Given the description of an element on the screen output the (x, y) to click on. 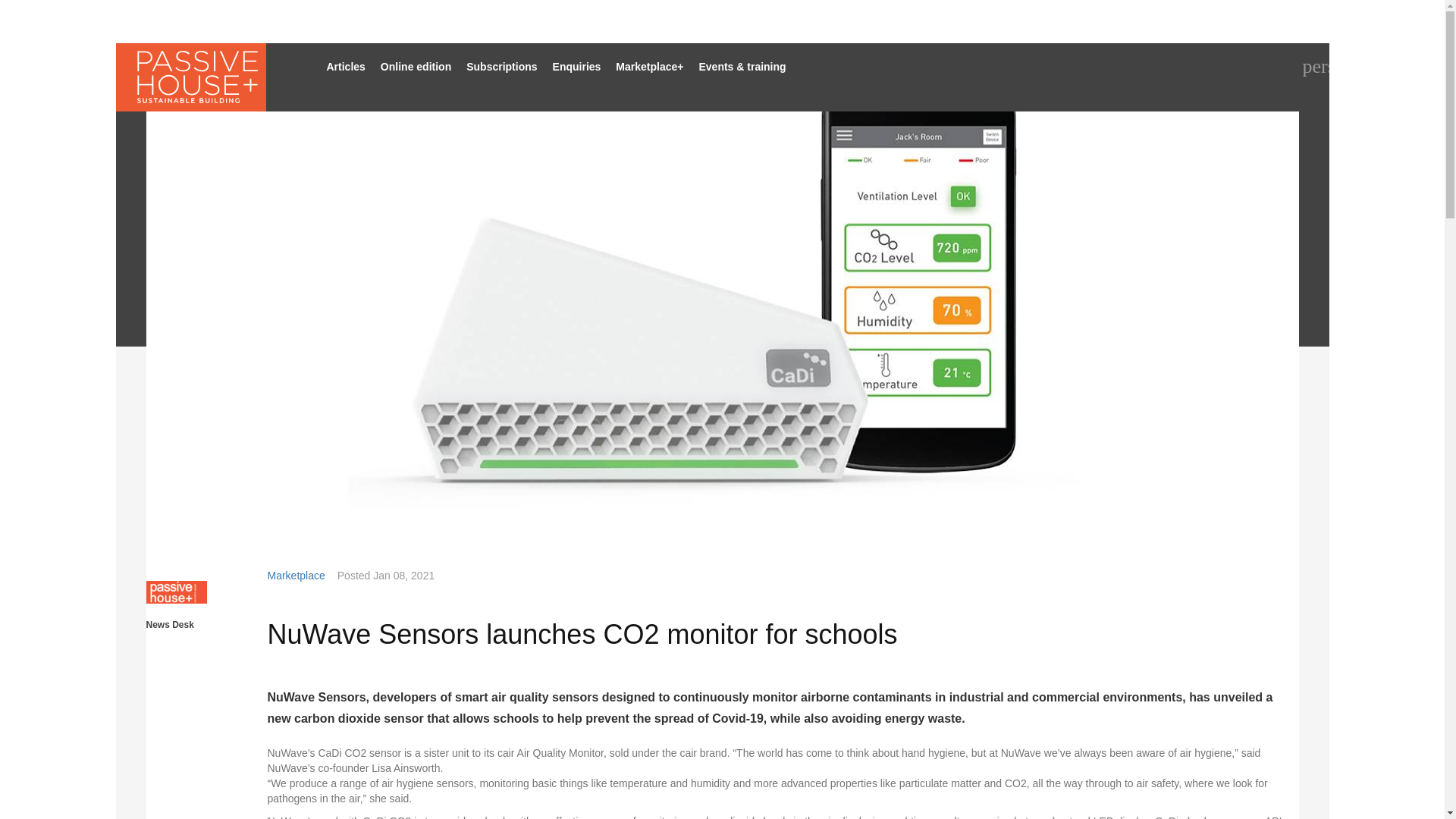
Articles (345, 66)
Enquiries (576, 66)
Online edition (415, 66)
Subscriptions (501, 66)
